Given the description of an element on the screen output the (x, y) to click on. 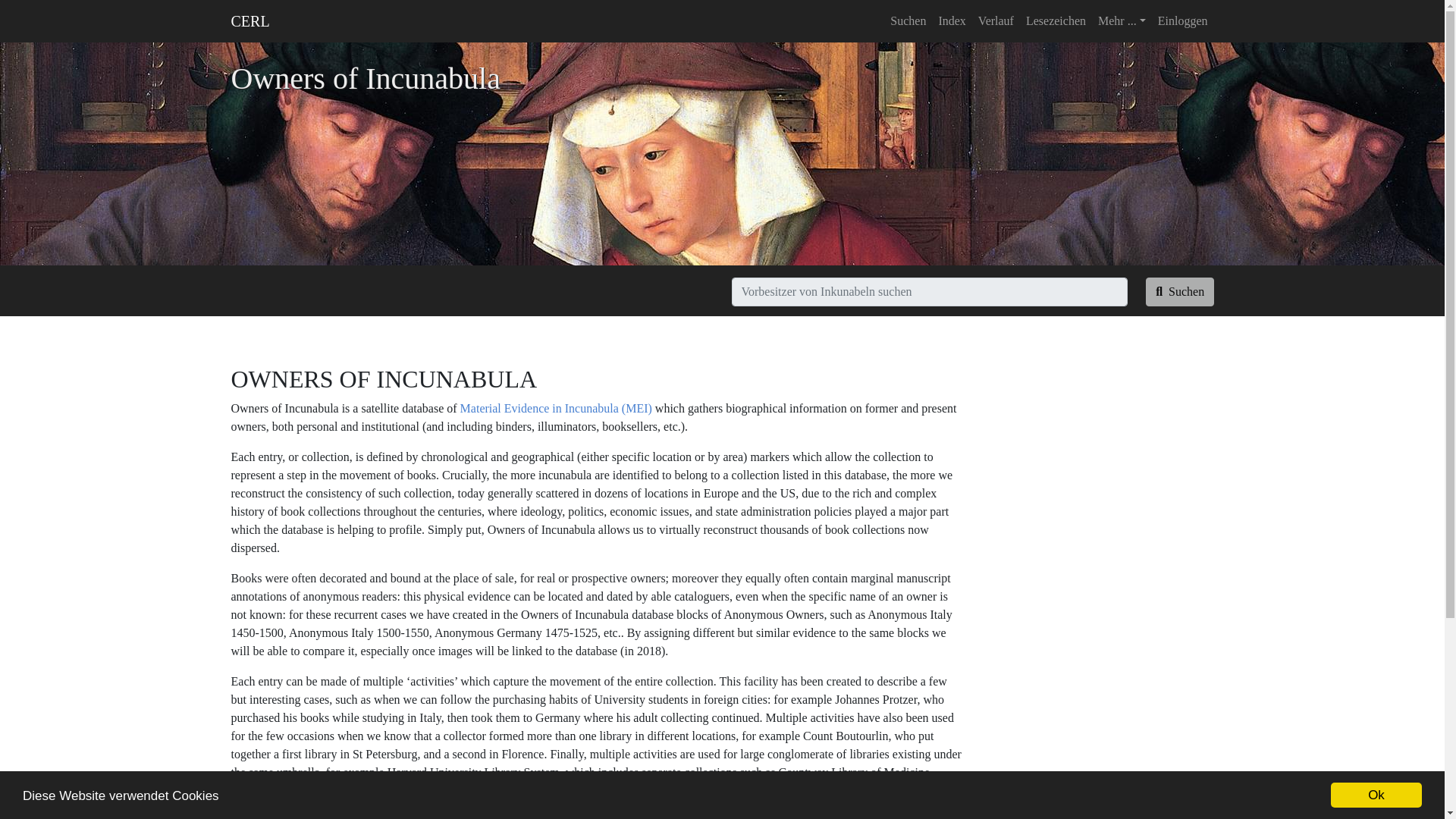
Verlauf (996, 20)
  Suchen (1179, 291)
Mehr ... (1121, 20)
Einloggen (1182, 20)
Suchen (907, 20)
CERL (249, 20)
Index (951, 20)
Lesezeichen (1056, 20)
